Given the description of an element on the screen output the (x, y) to click on. 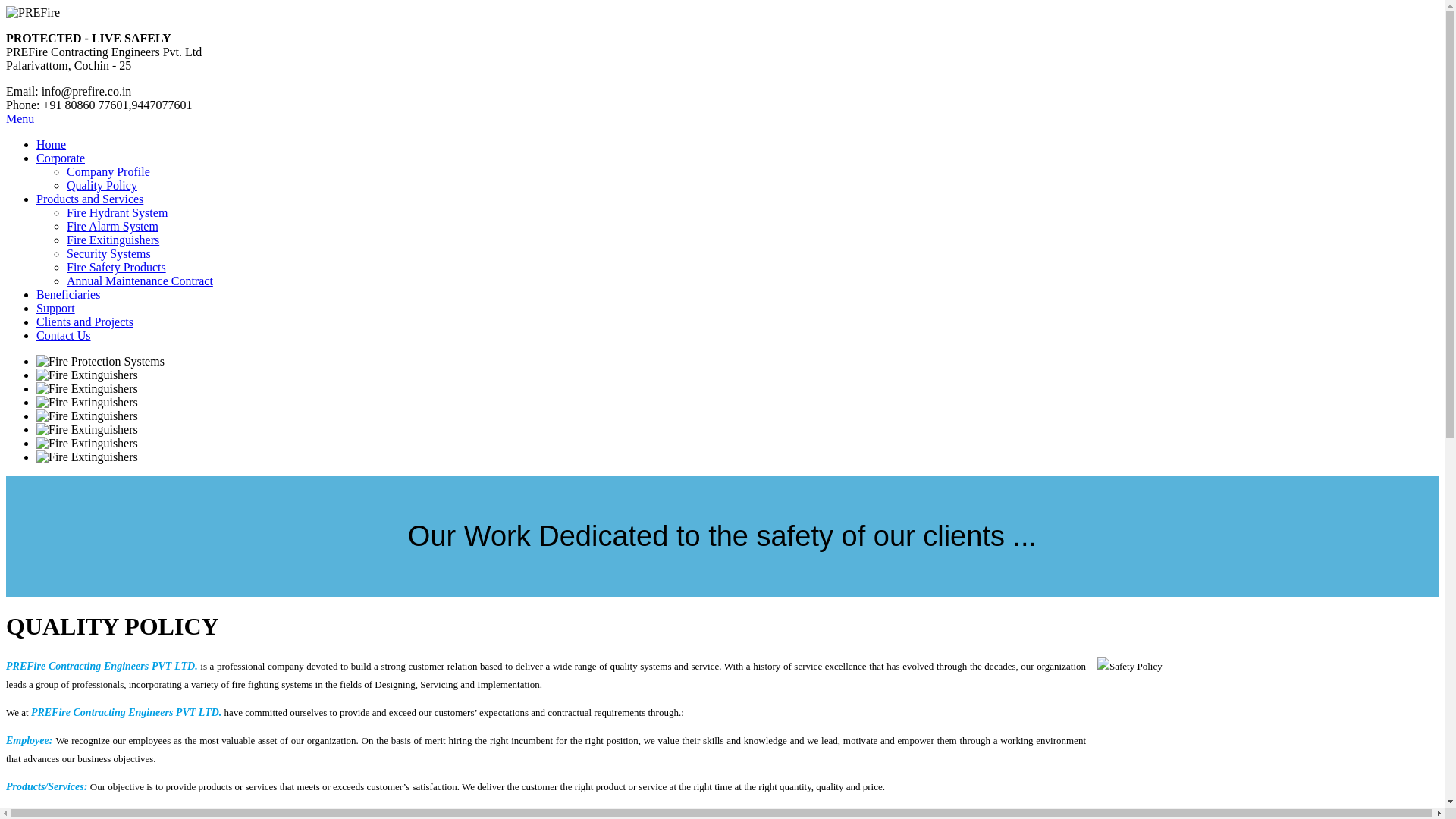
Annual Maintenance Contract (139, 280)
Fire Exitinguishers (112, 239)
Support (55, 308)
Menu (19, 118)
Clients and Projects (84, 321)
Corporate (60, 157)
Contact Us (63, 335)
Security Systems (108, 253)
Fire Hydrant System (116, 212)
Fire Alarm System (112, 226)
